Given the description of an element on the screen output the (x, y) to click on. 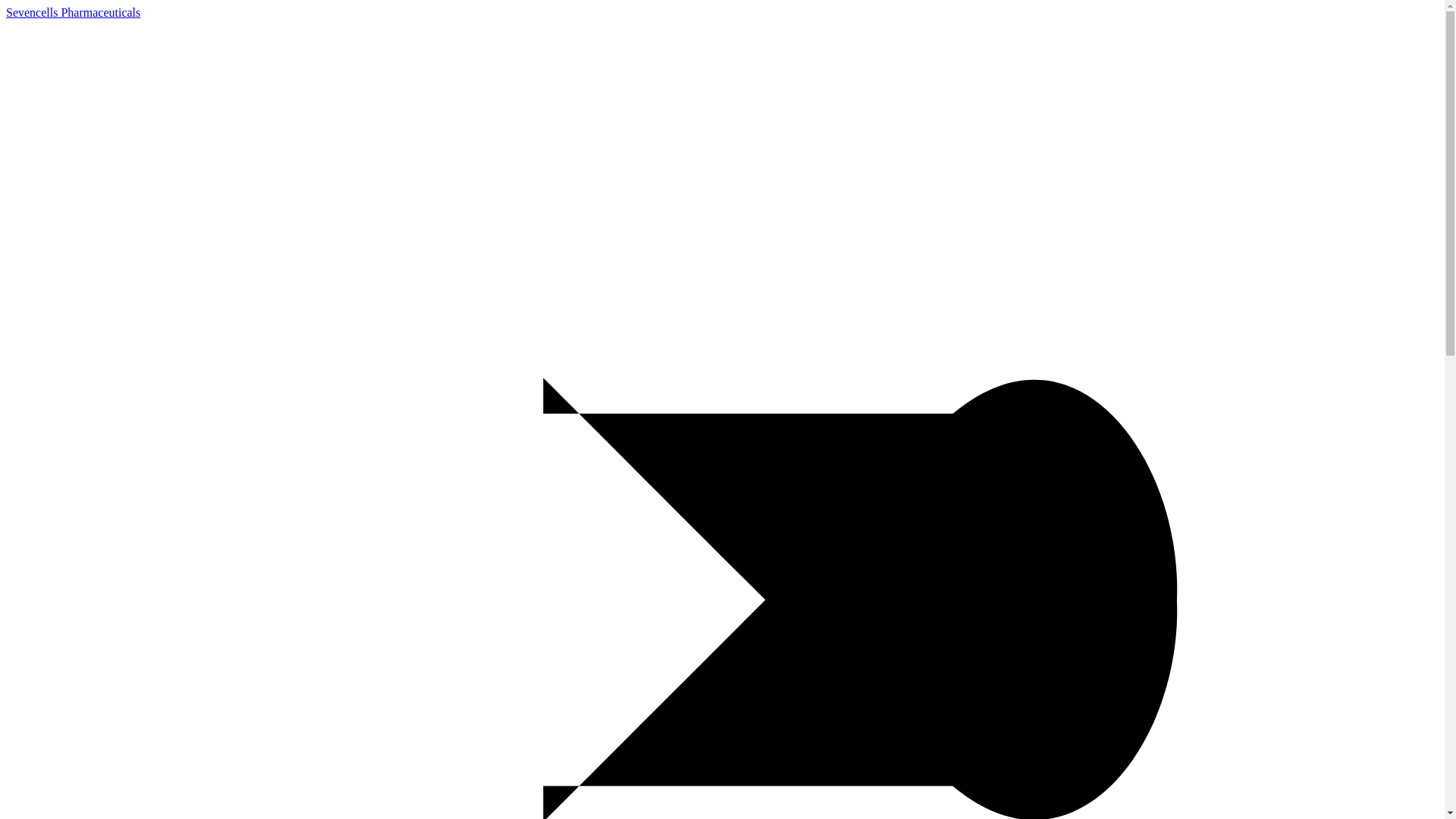
Sevencells Pharmaceuticals (72, 11)
